Given the description of an element on the screen output the (x, y) to click on. 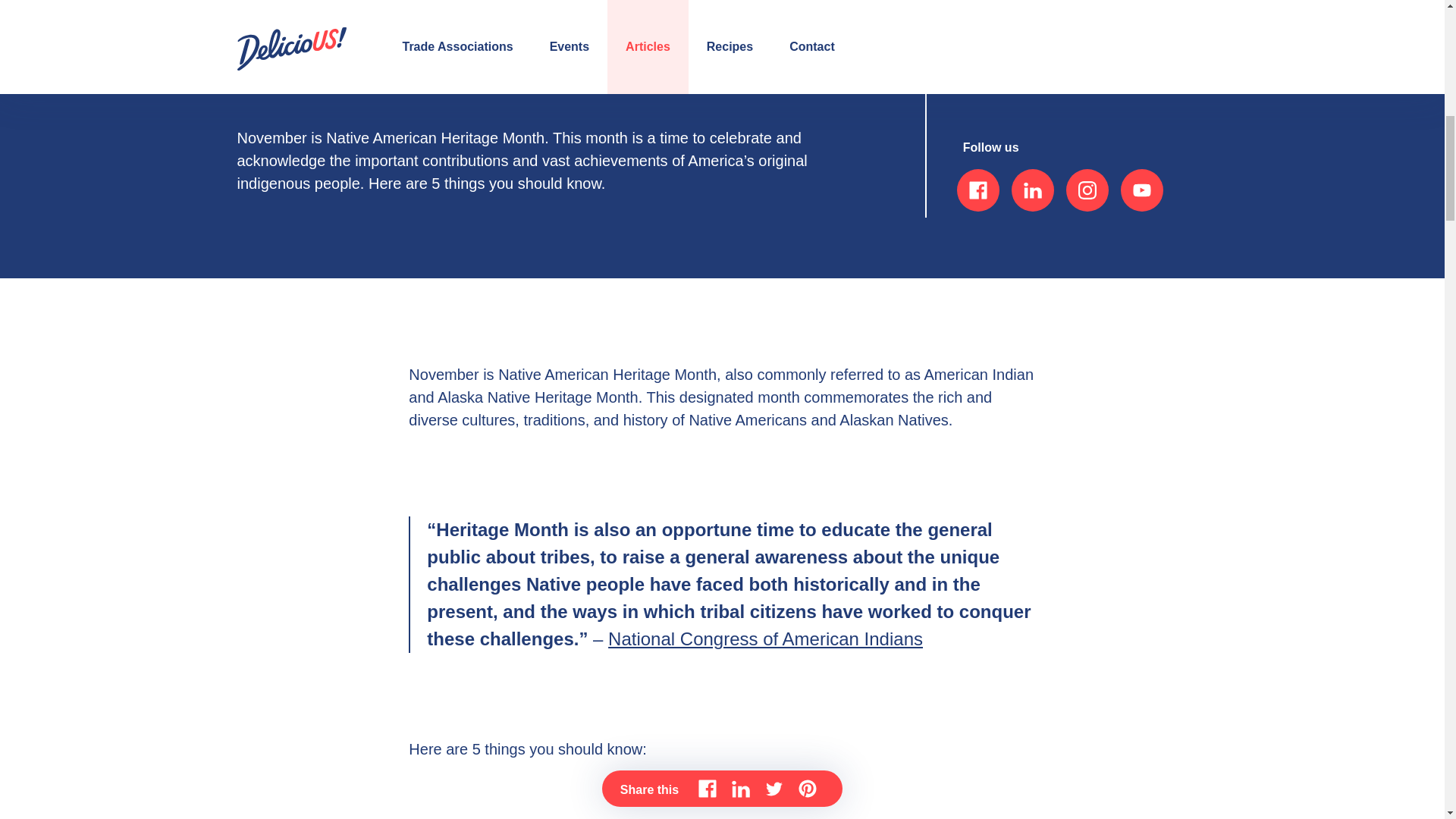
LinkedIn (1032, 189)
YouTube (1142, 189)
contact us (1009, 67)
Facebook (977, 189)
Instagram (1086, 189)
National Congress of American Indians (765, 638)
